Given the description of an element on the screen output the (x, y) to click on. 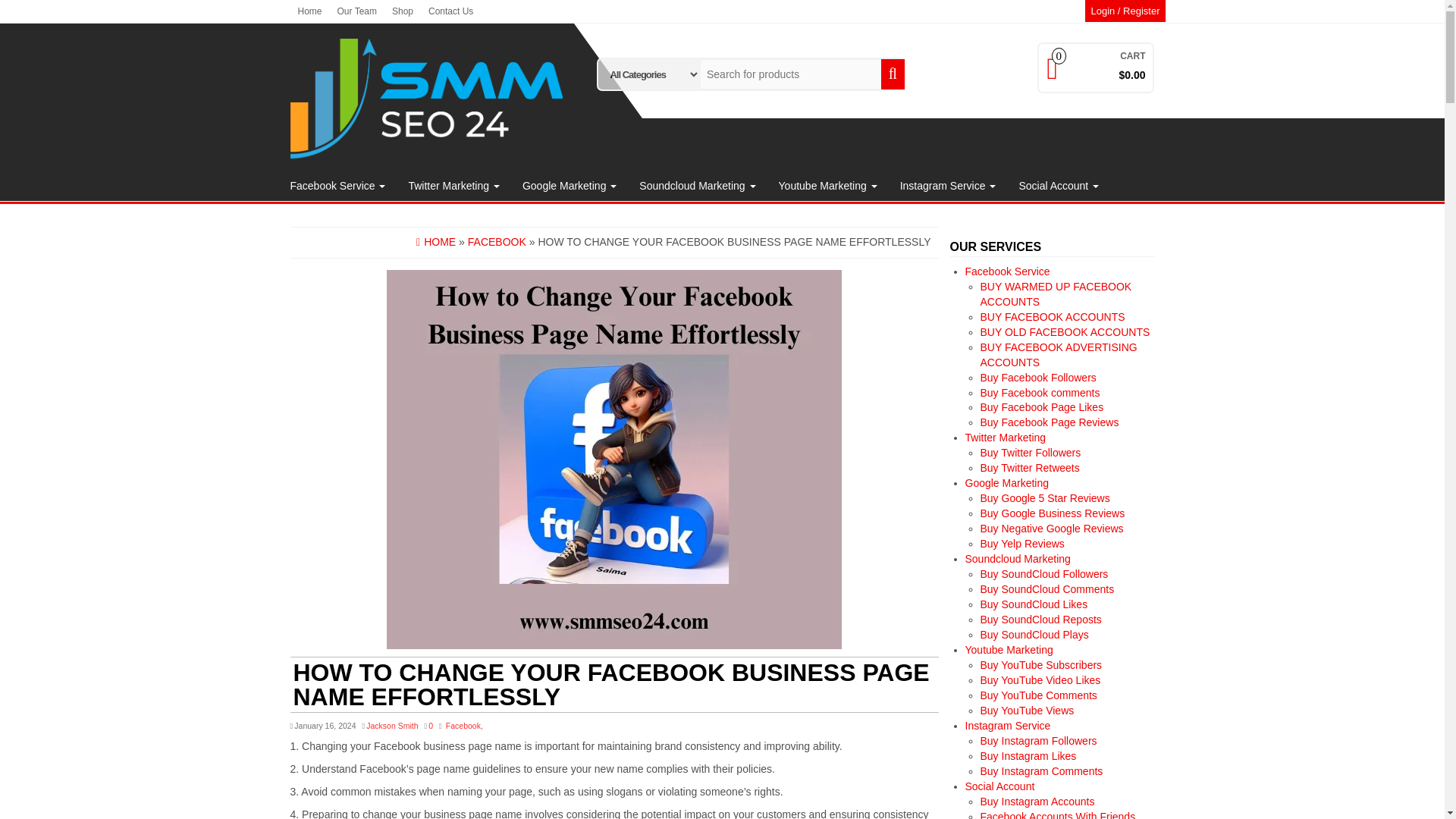
Facebook Service (338, 185)
Home (309, 11)
Facebook Service (338, 185)
Google Marketing (569, 185)
Shop (402, 11)
Shop (402, 11)
Our Team (357, 11)
Youtube Marketing (827, 185)
Twitter Marketing (453, 185)
Soundcloud Marketing (697, 185)
Twitter Marketing (453, 185)
Contact Us (450, 11)
Instagram Service (947, 185)
Contact Us (450, 11)
Home (309, 11)
